Given the description of an element on the screen output the (x, y) to click on. 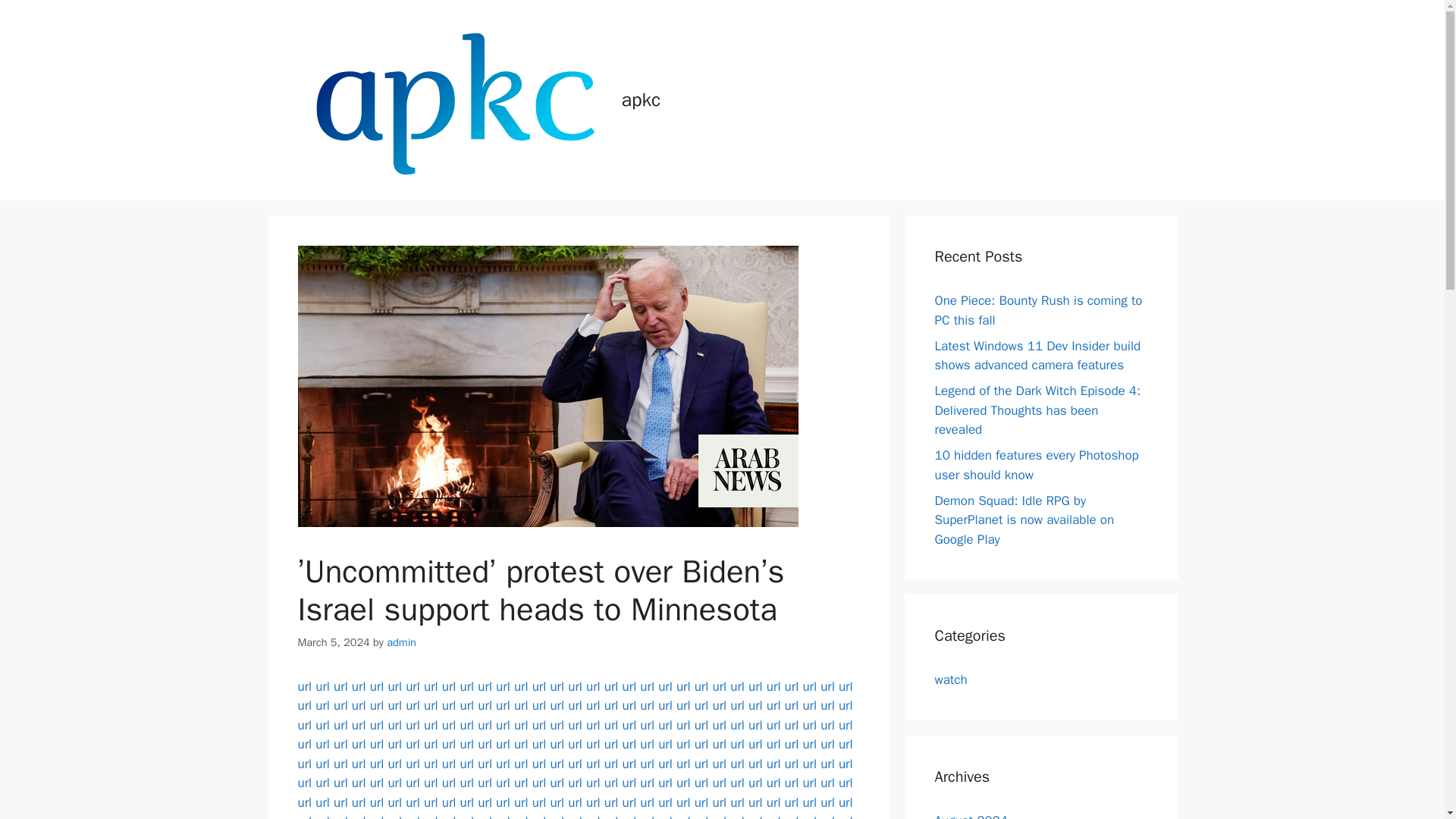
url (755, 686)
url (557, 686)
url (592, 686)
url (449, 686)
admin (401, 642)
url (484, 686)
url (467, 686)
url (322, 705)
url (809, 686)
View all posts by admin (401, 642)
